Given the description of an element on the screen output the (x, y) to click on. 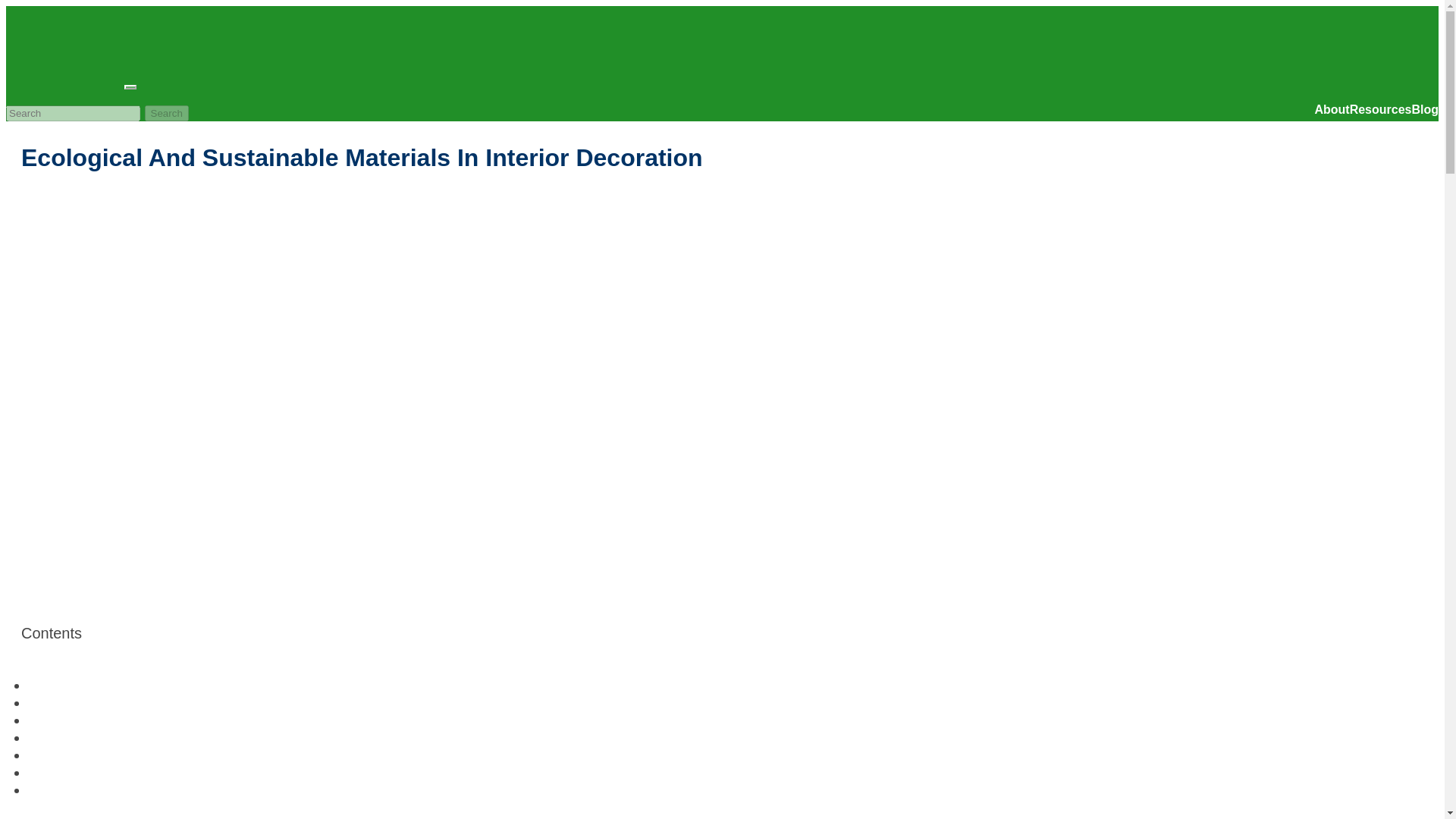
Resources (1380, 109)
About (1331, 109)
Search (166, 113)
